Given the description of an element on the screen output the (x, y) to click on. 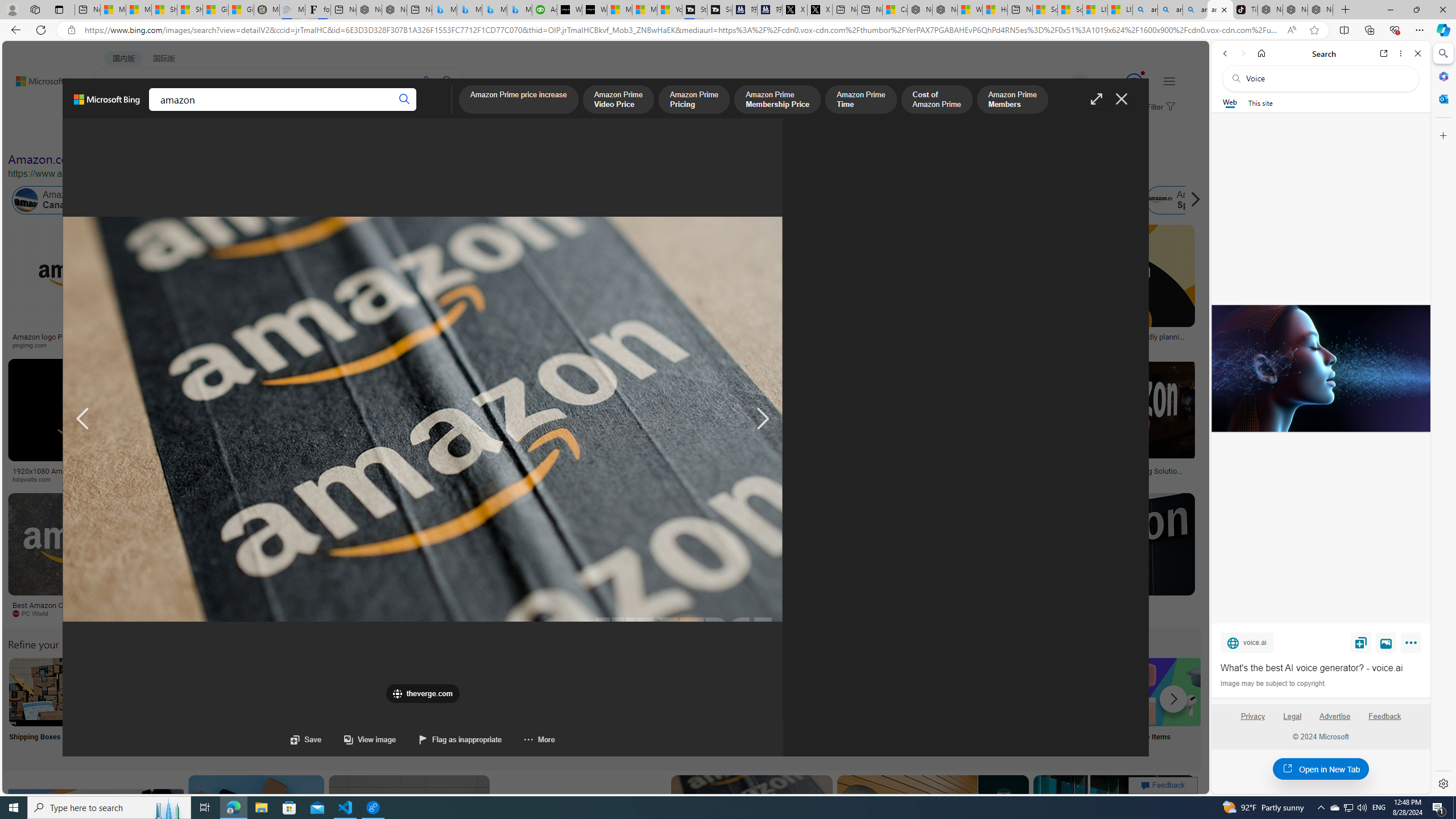
Microsoft Bing, Back to Bing search (106, 104)
theverge.com (1068, 344)
Amazon Shipping Boxes (42, 691)
logopng.com.br (783, 344)
Amazon.com.au (923, 199)
Amazon Shoes (1103, 199)
App bar (728, 29)
Amazon Cloud (344, 199)
usatoday.com (403, 344)
hdqwalls.com (35, 479)
